Given the description of an element on the screen output the (x, y) to click on. 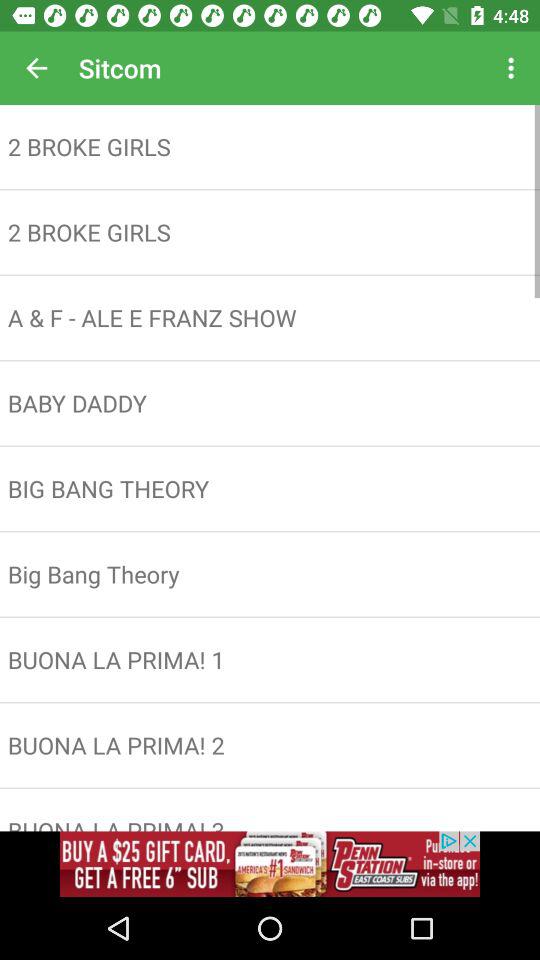
open an advertisement (270, 864)
